Given the description of an element on the screen output the (x, y) to click on. 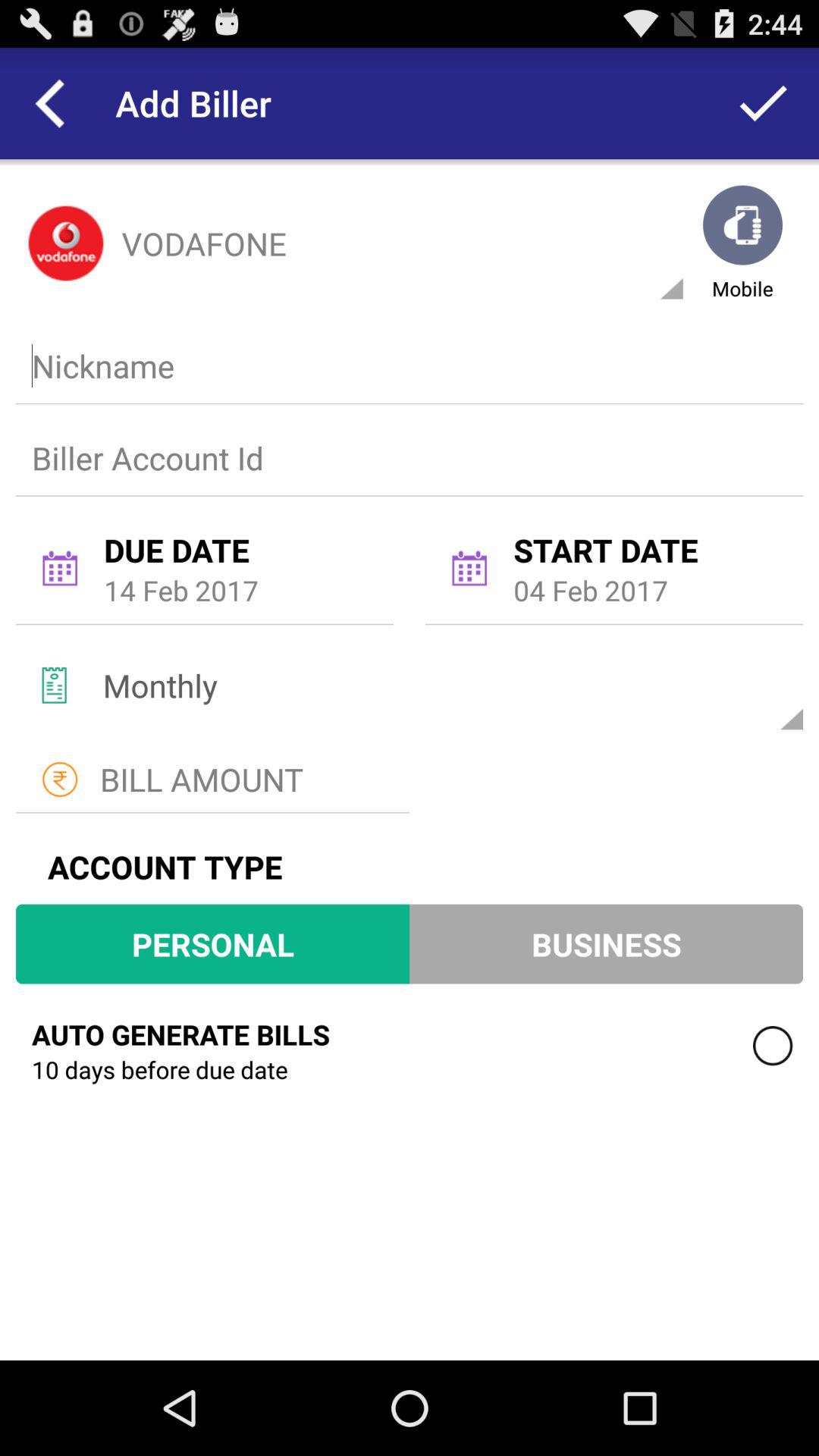
select the check box (772, 1045)
click on biller account id (405, 457)
click on the button which is next to the personal (606, 944)
click on the first text box which says nickname (405, 366)
